Given the description of an element on the screen output the (x, y) to click on. 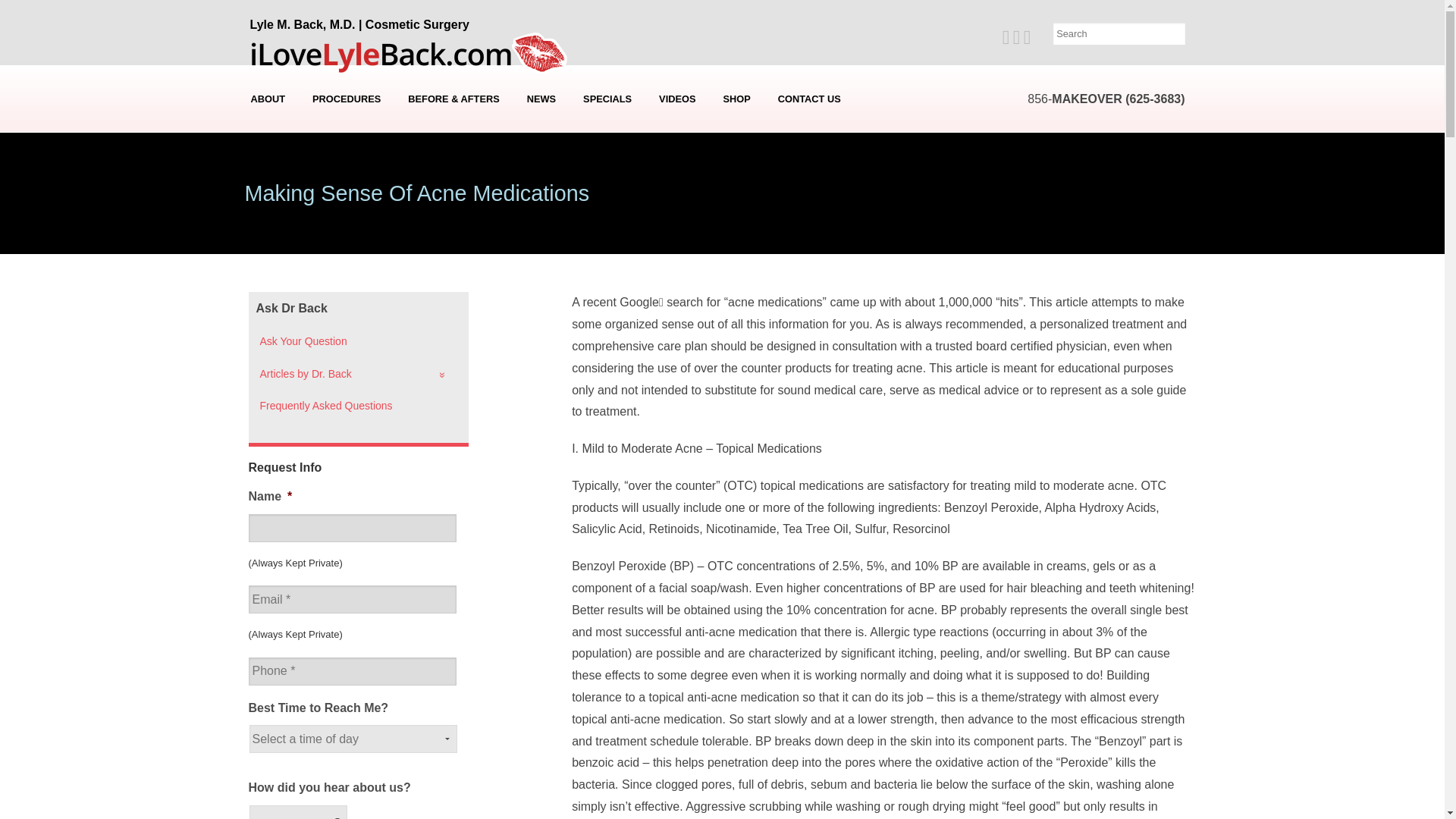
THE BACK BLOG (543, 197)
TESTIMONIALS (268, 151)
SPECIALS (607, 98)
About Cosmetic Skin Care Specialists of Cherry Hill (268, 197)
BODY (346, 174)
ABOUT (268, 98)
Listen to Dr Back talk about common questions from patients (676, 98)
NEWSLETTER (543, 151)
NON-SURGICAL (346, 242)
COSMETIC SKIN CARE SPECIALISTS (268, 197)
PROCEDURES (346, 98)
COSMETIC SKIN CARE (346, 265)
PRESS RELEASES (543, 174)
Cosmetic surgery and skin care services (346, 98)
MEN (346, 220)
